Given the description of an element on the screen output the (x, y) to click on. 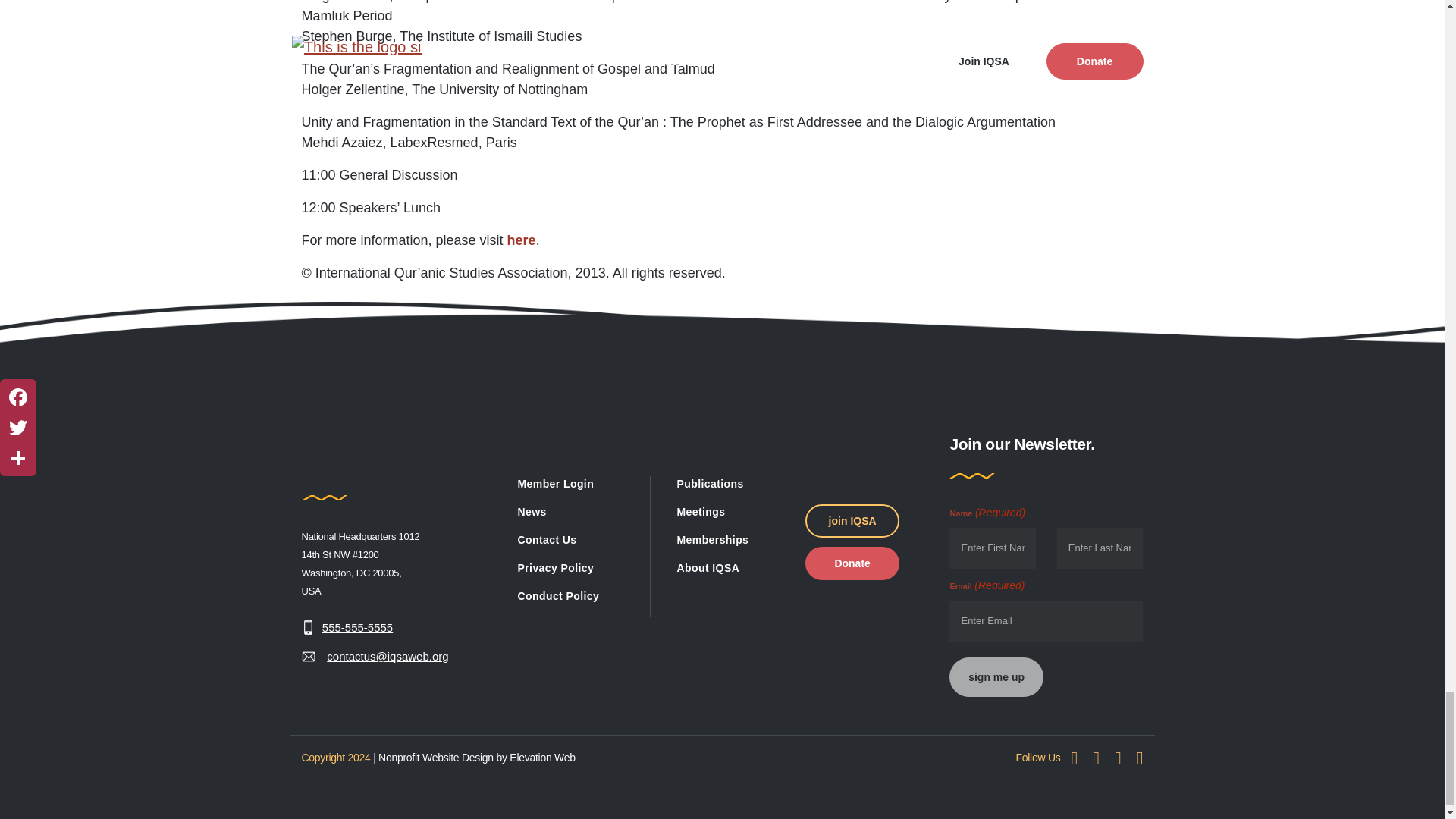
sign me up (995, 676)
